Given the description of an element on the screen output the (x, y) to click on. 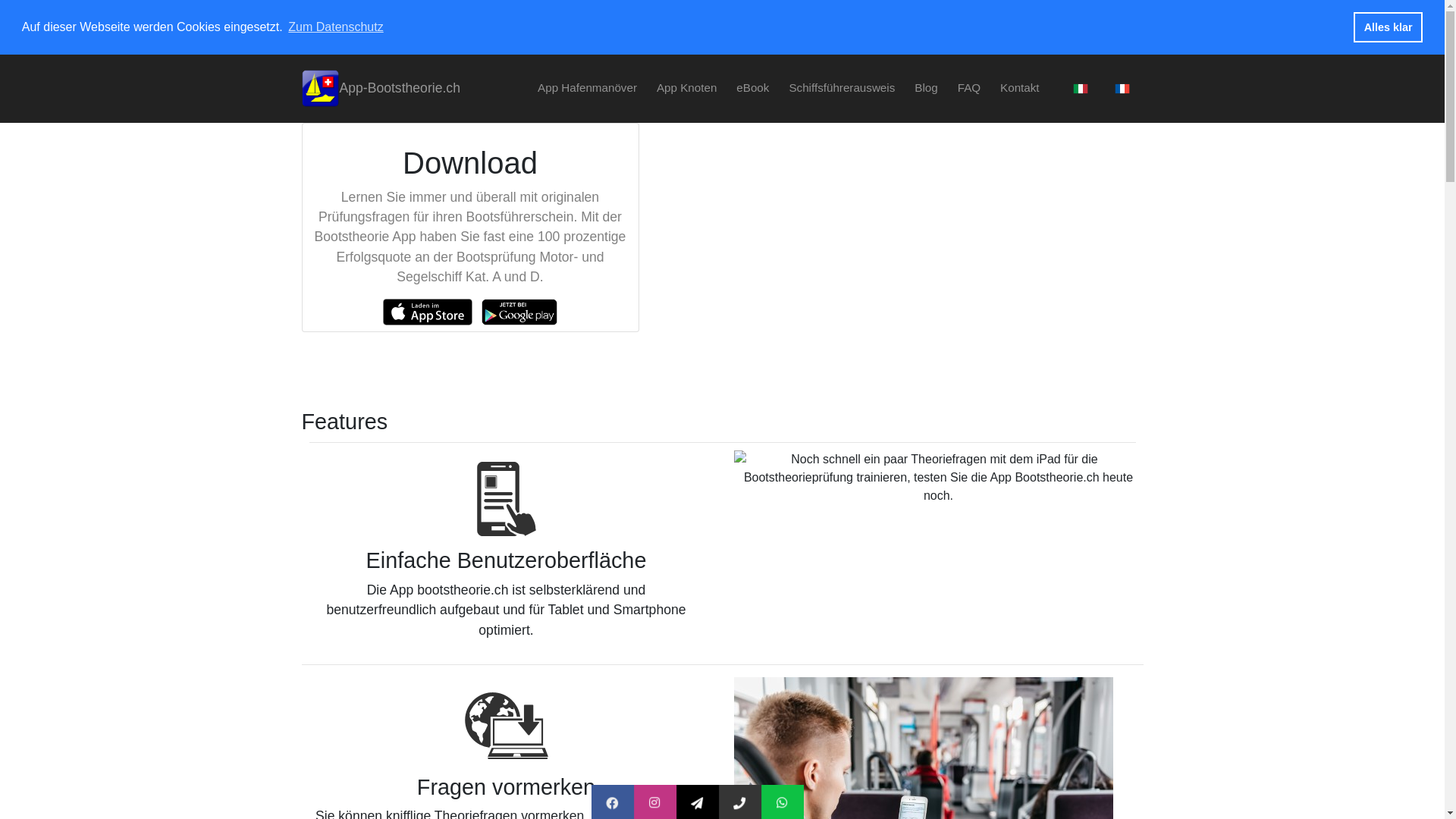
Blog Element type: text (925, 88)
Facebook Element type: text (658, 803)
FAQ Element type: text (968, 88)
Kontakt Element type: text (1019, 88)
Email schreiben Element type: text (759, 803)
App-Bootstheorie.ch Element type: text (380, 88)
Alles klar Element type: text (1387, 27)
  Element type: text (1077, 88)
  Element type: text (1118, 88)
Zum Datenschutz Element type: text (335, 26)
App Knoten Element type: text (686, 88)
Instagram Element type: text (700, 803)
eBook Element type: text (752, 88)
Anrufen Element type: text (780, 803)
WhatsApp Element type: text (828, 803)
